Given the description of an element on the screen output the (x, y) to click on. 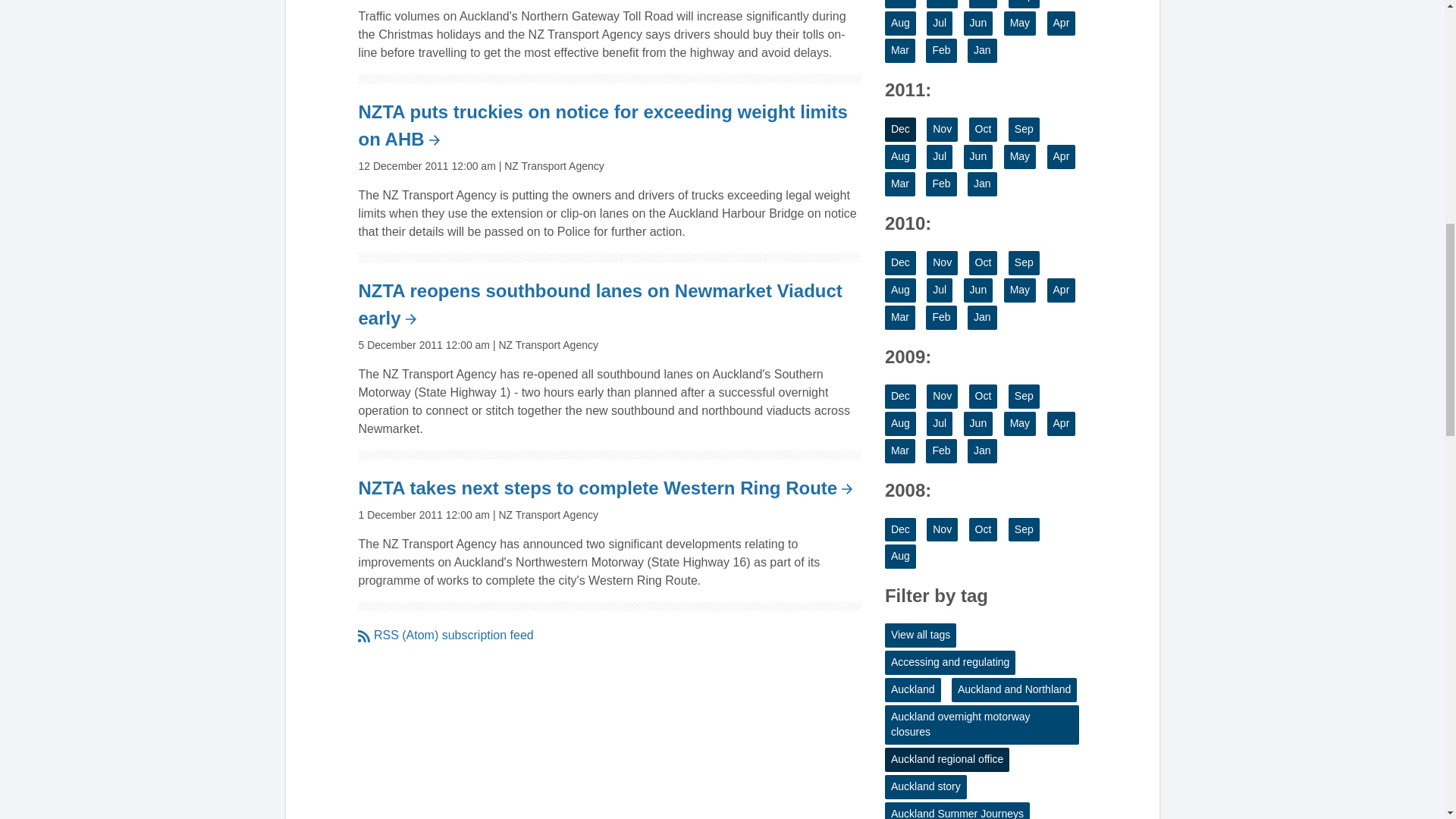
View items tagged Accessing and regulating (949, 662)
View items tagged Auckland story (925, 786)
View items tagged Auckland overnight motorway closures (981, 724)
View items tagged Auckland and Northland (1014, 689)
View all tags (920, 635)
View items tagged Auckland (912, 689)
View items tagged Auckland Summer Journeys (957, 810)
View items tagged Auckland regional office (947, 759)
